Given the description of an element on the screen output the (x, y) to click on. 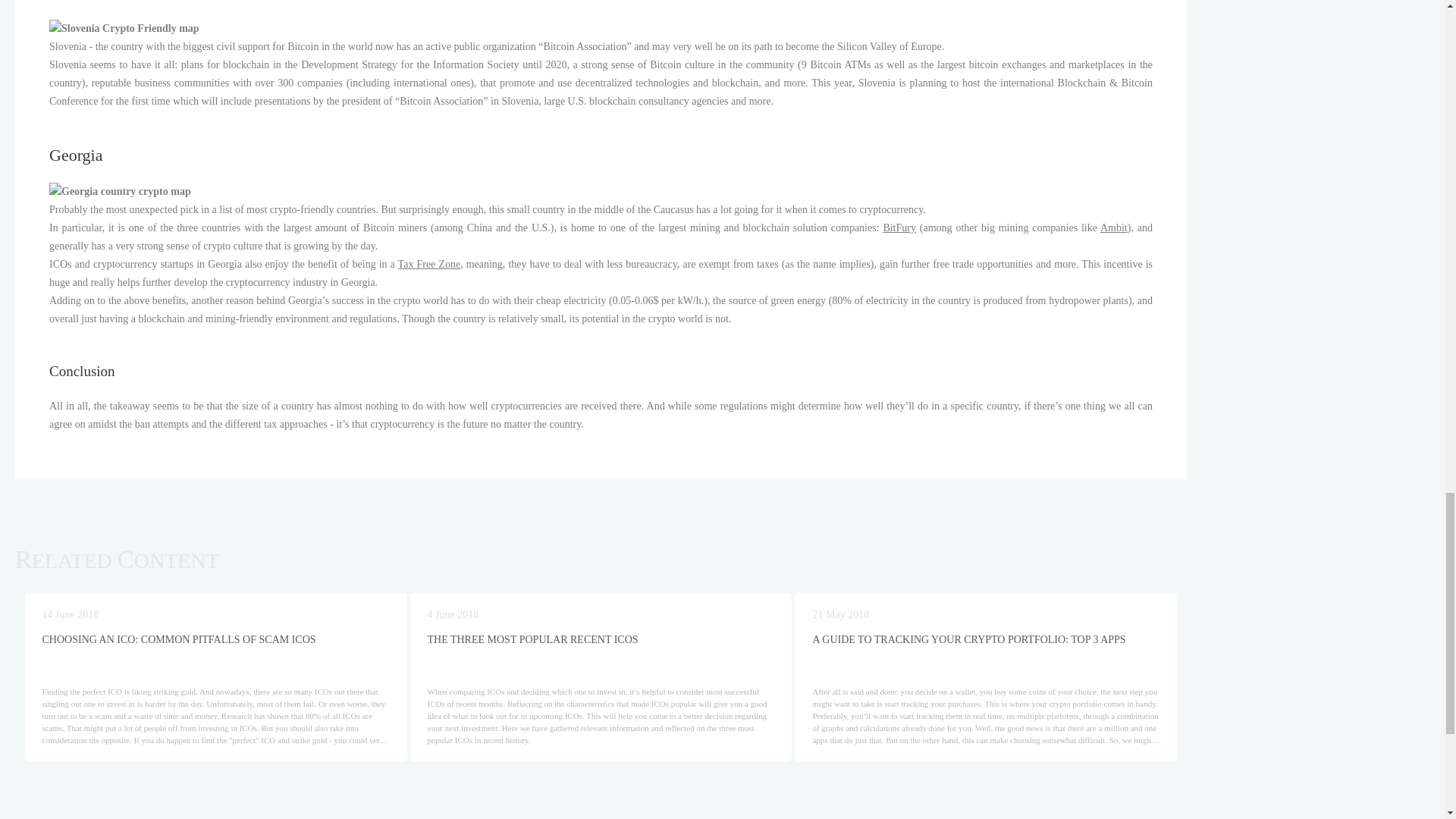
A GUIDE TO TRACKING YOUR CRYPTO PORTFOLIO: TOP 3 APPS (985, 644)
BitFury (898, 227)
THE THREE MOST POPULAR RECENT ICOS (600, 644)
Tax Free Zone (429, 264)
CHOOSING AN ICO: COMMON PITFALLS OF SCAM ICOS (215, 644)
Ambit (1113, 227)
